Given the description of an element on the screen output the (x, y) to click on. 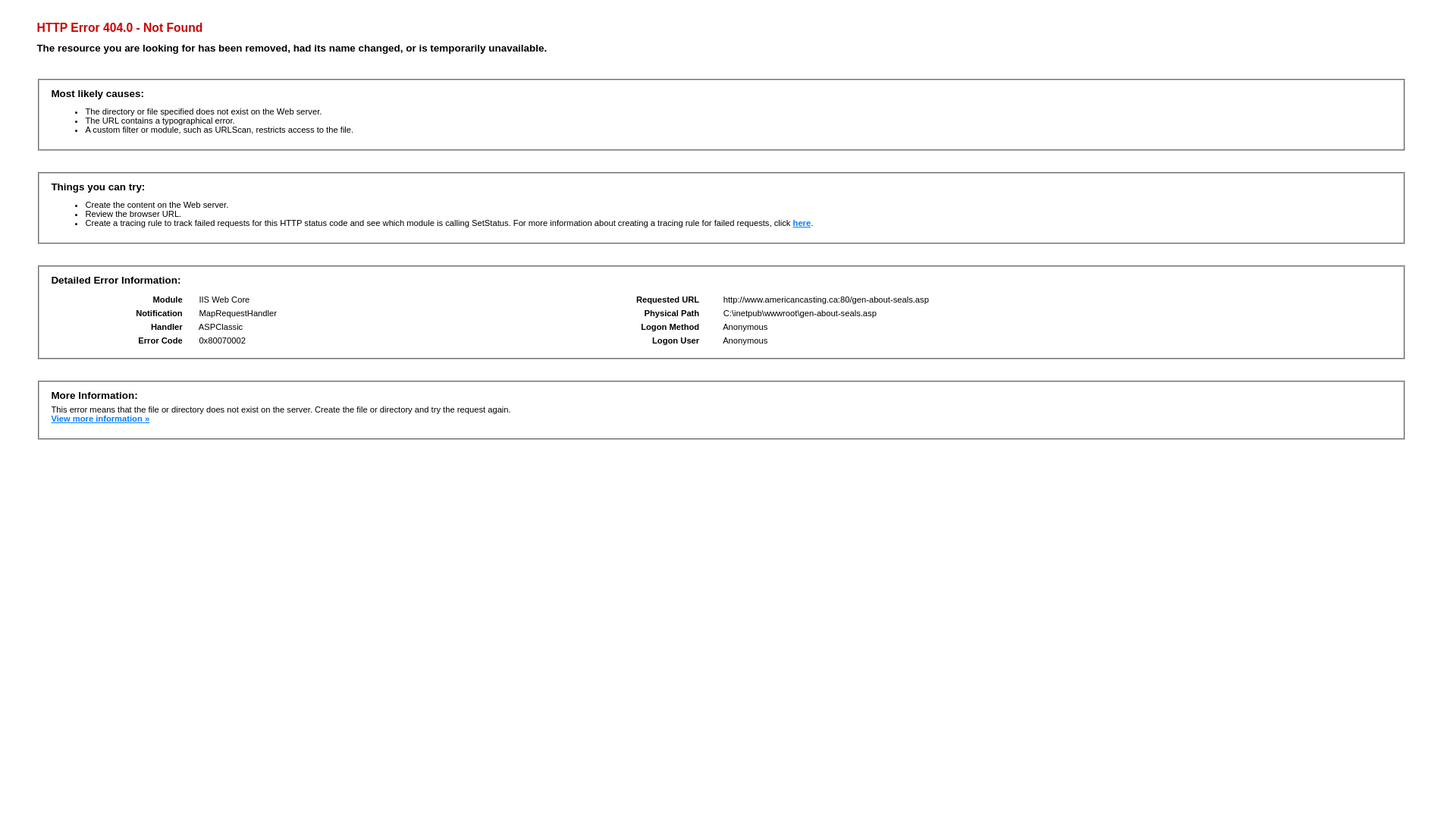
here Element type: text (802, 222)
